Given the description of an element on the screen output the (x, y) to click on. 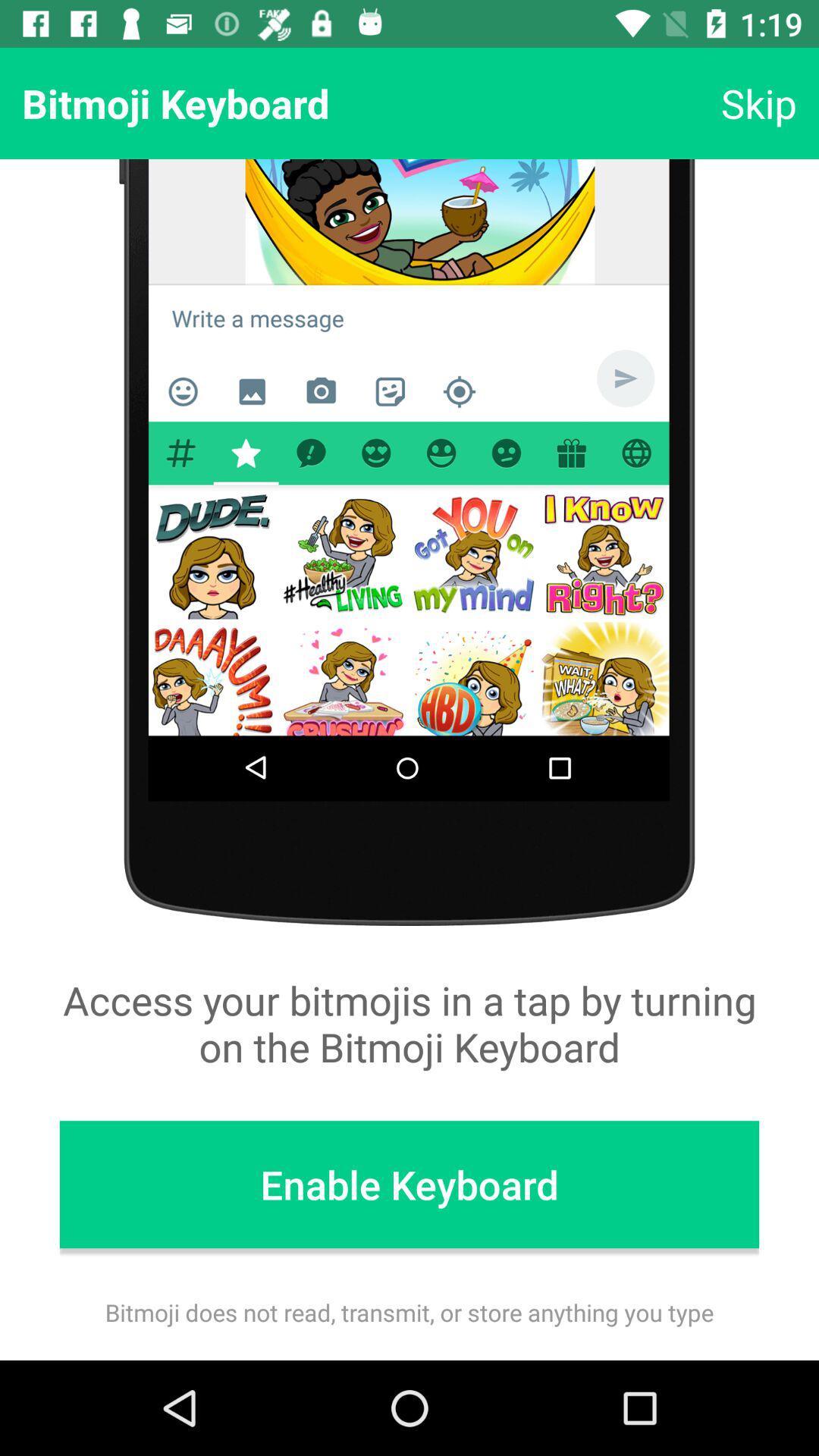
jump to the enable keyboard icon (409, 1184)
